Given the description of an element on the screen output the (x, y) to click on. 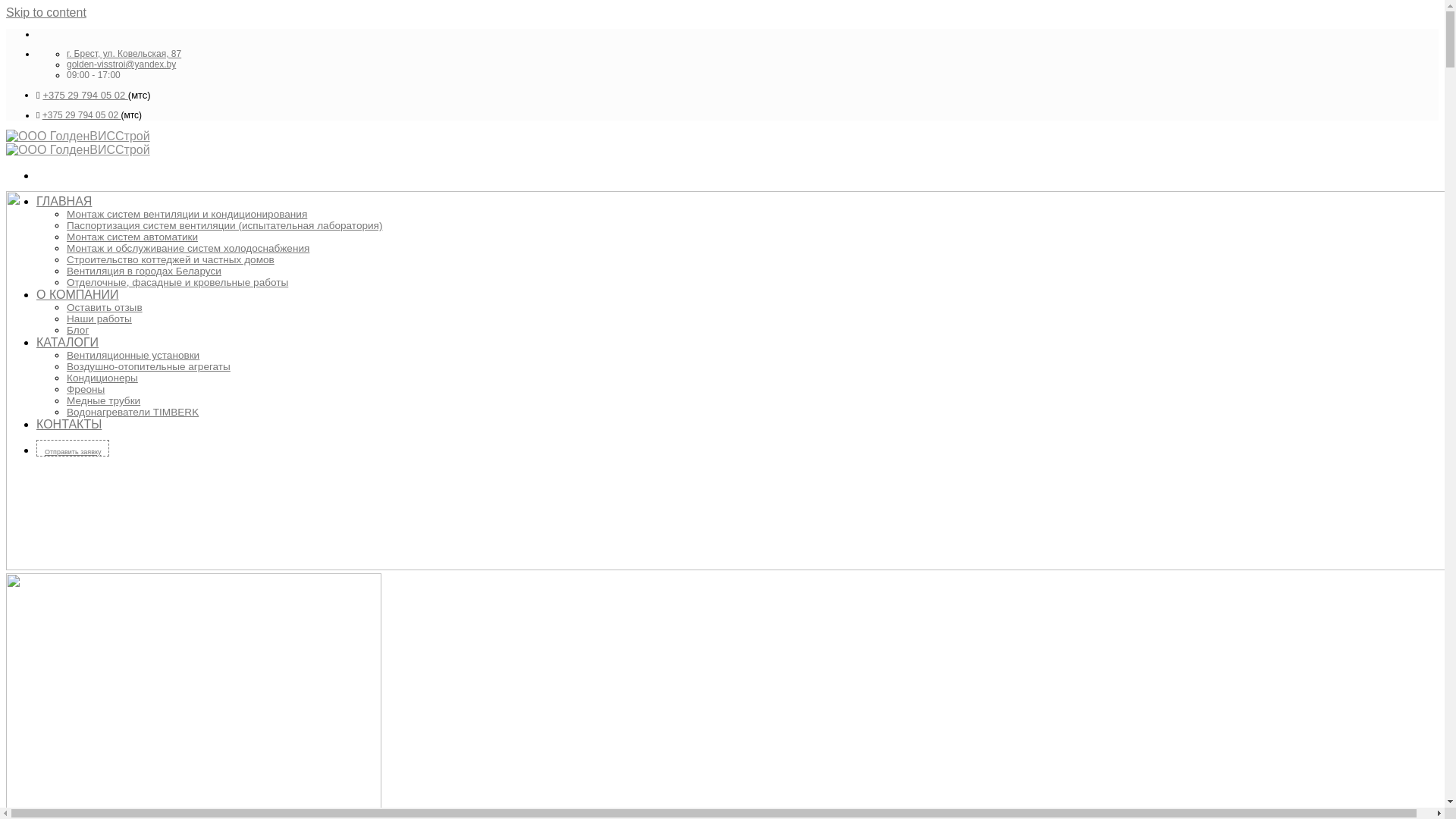
5 29 794 05 02  Element type: text (93, 94)
09:00 - 17:00 Element type: text (93, 74)
+37 Element type: text (50, 94)
5 29 794 05 02  Element type: text (88, 114)
golden-visstroi@yandex.by Element type: text (120, 64)
Skip to content Element type: text (46, 12)
+37 Element type: text (49, 114)
